Given the description of an element on the screen output the (x, y) to click on. 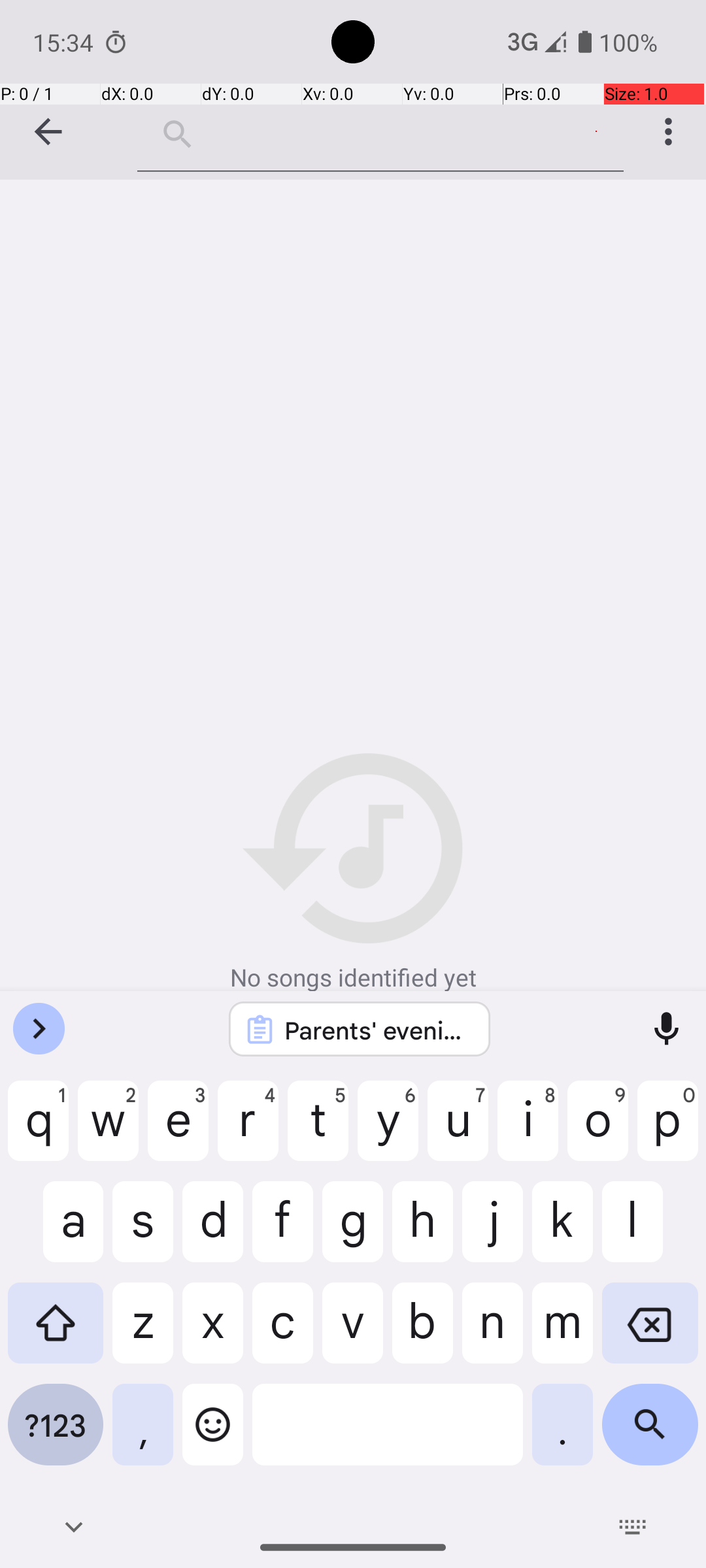
    Element type: android.widget.AutoCompleteTextView (380, 130)
No songs identified yet Element type: android.widget.TextView (353, 873)
Parents' evening at school this Wednesday. Element type: android.widget.TextView (376, 1029)
